Given the description of an element on the screen output the (x, y) to click on. 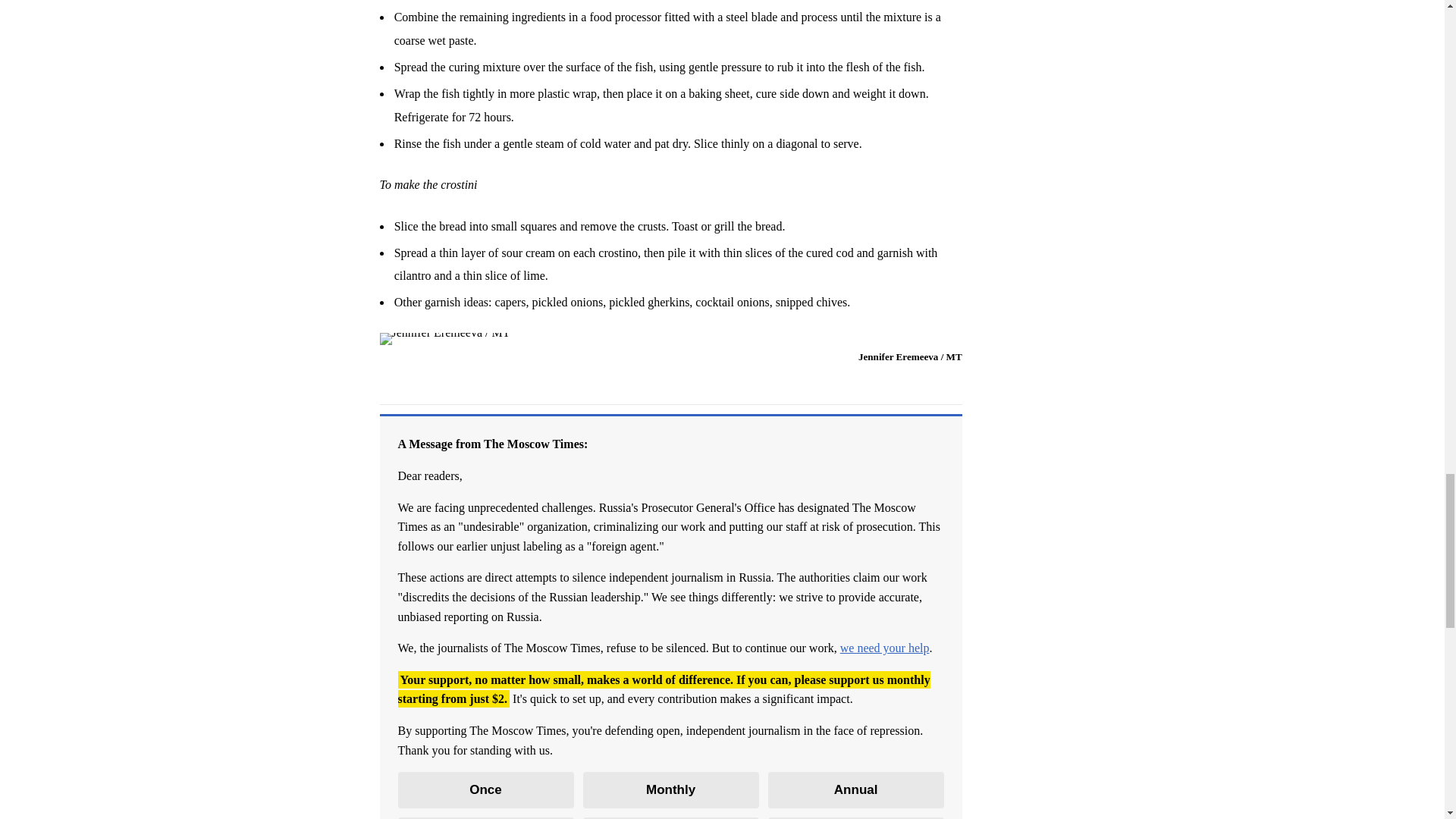
we need your help (885, 647)
